Given the description of an element on the screen output the (x, y) to click on. 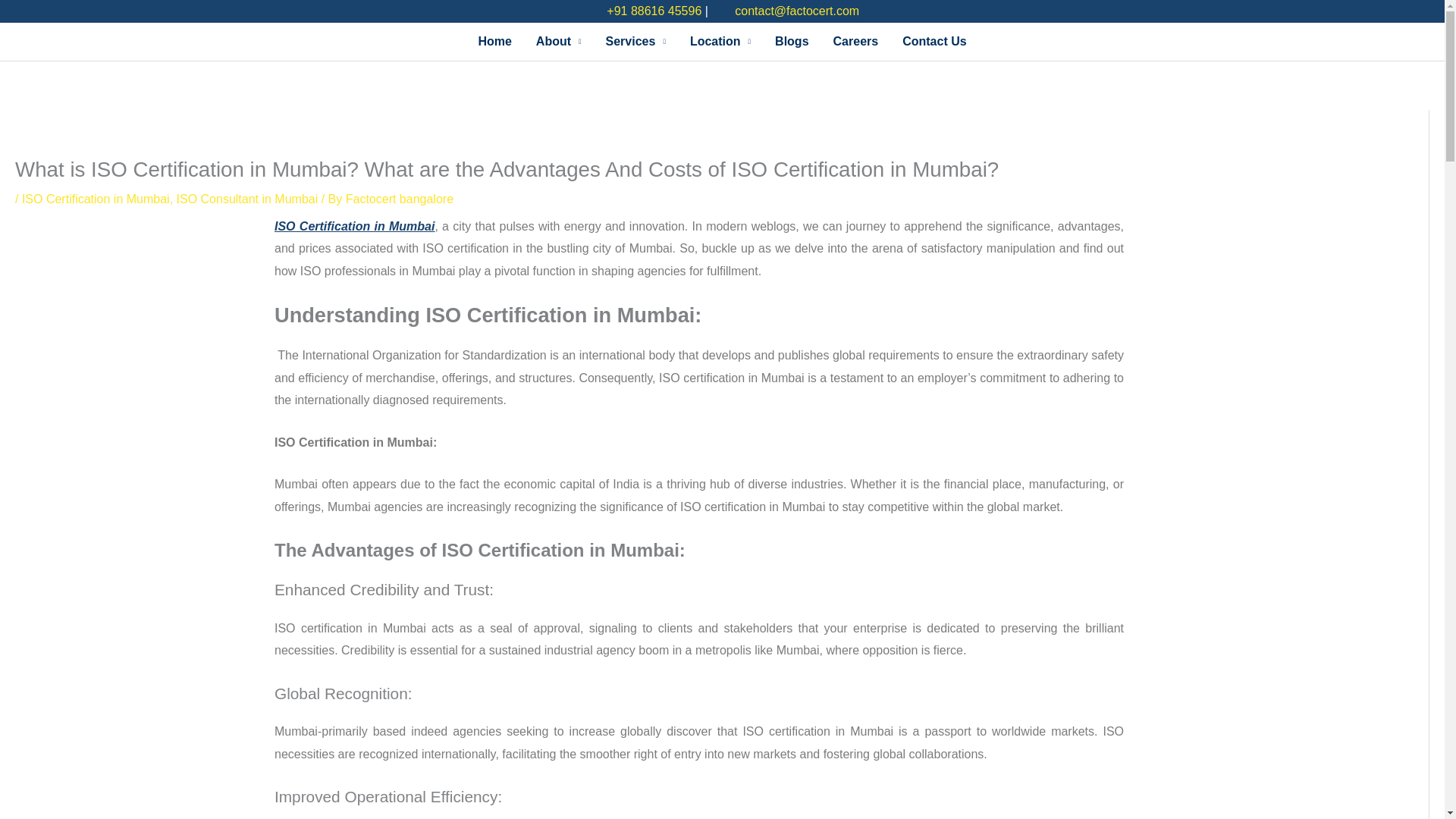
About (559, 41)
Services (636, 41)
Home (493, 41)
View all posts by Factocert bangalore (399, 198)
